Given the description of an element on the screen output the (x, y) to click on. 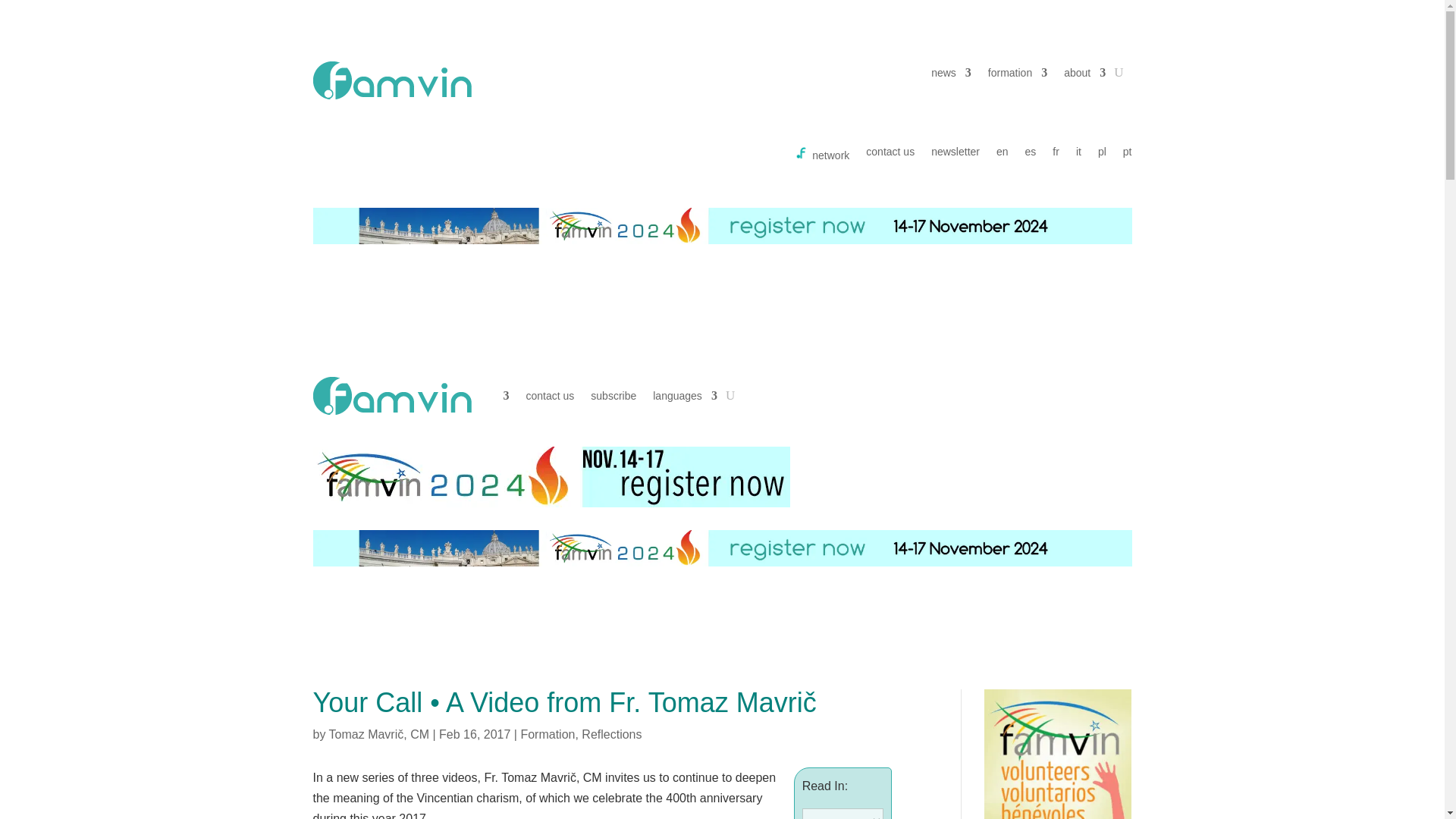
network (821, 156)
newsletter (955, 156)
contact us (890, 156)
formation (1017, 75)
Registration-Information-Famvin-2024-1 (722, 226)
Registration-Information-Famvin-2024-1 (722, 547)
news (951, 75)
famvin 2024 banner mobile 2 (551, 476)
about (1084, 75)
dot-famvin-35afaa-50px (391, 80)
